Given the description of an element on the screen output the (x, y) to click on. 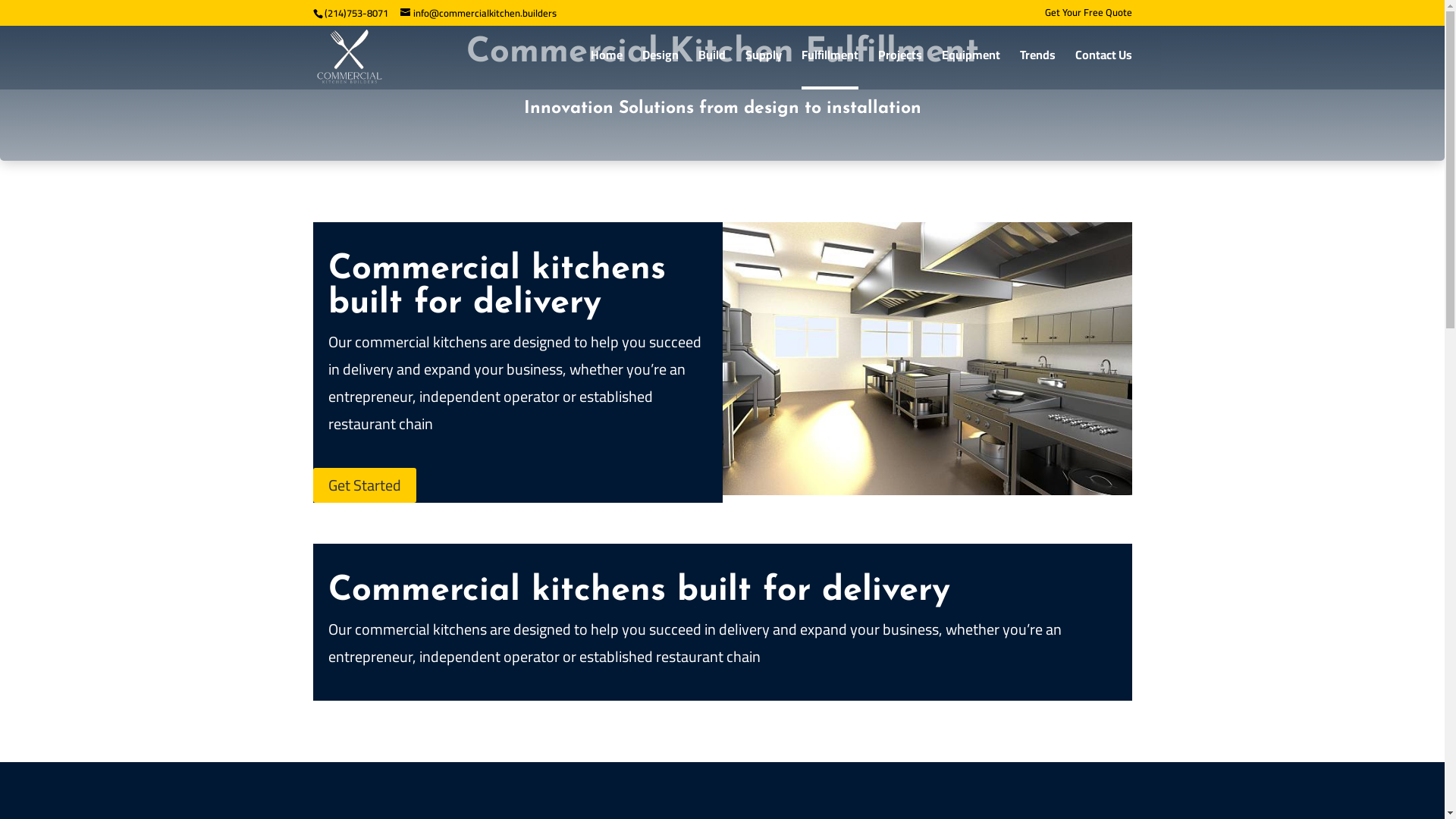
Home Element type: text (605, 67)
Equipment Element type: text (970, 67)
Trends Element type: text (1036, 67)
Contact Us Element type: text (1103, 67)
Get Started Element type: text (363, 484)
Build Element type: text (710, 67)
Fulfillment Element type: text (828, 69)
Design Element type: text (659, 67)
Supply Element type: text (762, 67)
info@commercialkitchen.builders Element type: text (478, 12)
Projects Element type: text (900, 67)
Get Your Free Quote Element type: text (1088, 16)
